Given the description of an element on the screen output the (x, y) to click on. 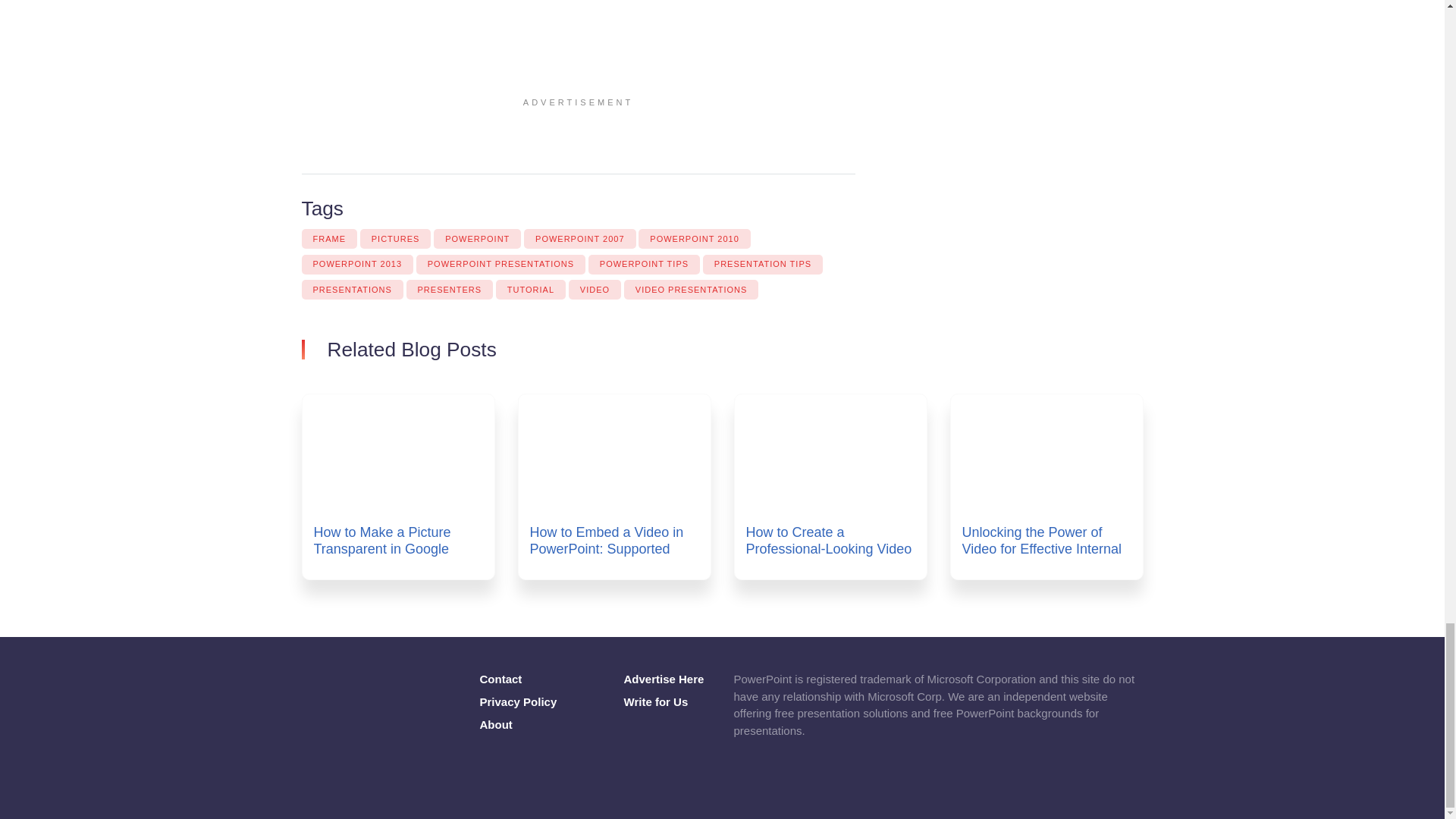
POWERPOINT 2007 (580, 238)
PRESENTATION TIPS (762, 264)
POWERPOINT 2010 (695, 238)
POWERPOINT (477, 238)
VIDEO (595, 289)
POWERPOINT TIPS (644, 264)
POWERPOINT PRESENTATIONS (500, 264)
VIDEO PRESENTATIONS (691, 289)
Video playing on top of frame in PowerPoint (415, 51)
TUTORIAL (531, 289)
